Given the description of an element on the screen output the (x, y) to click on. 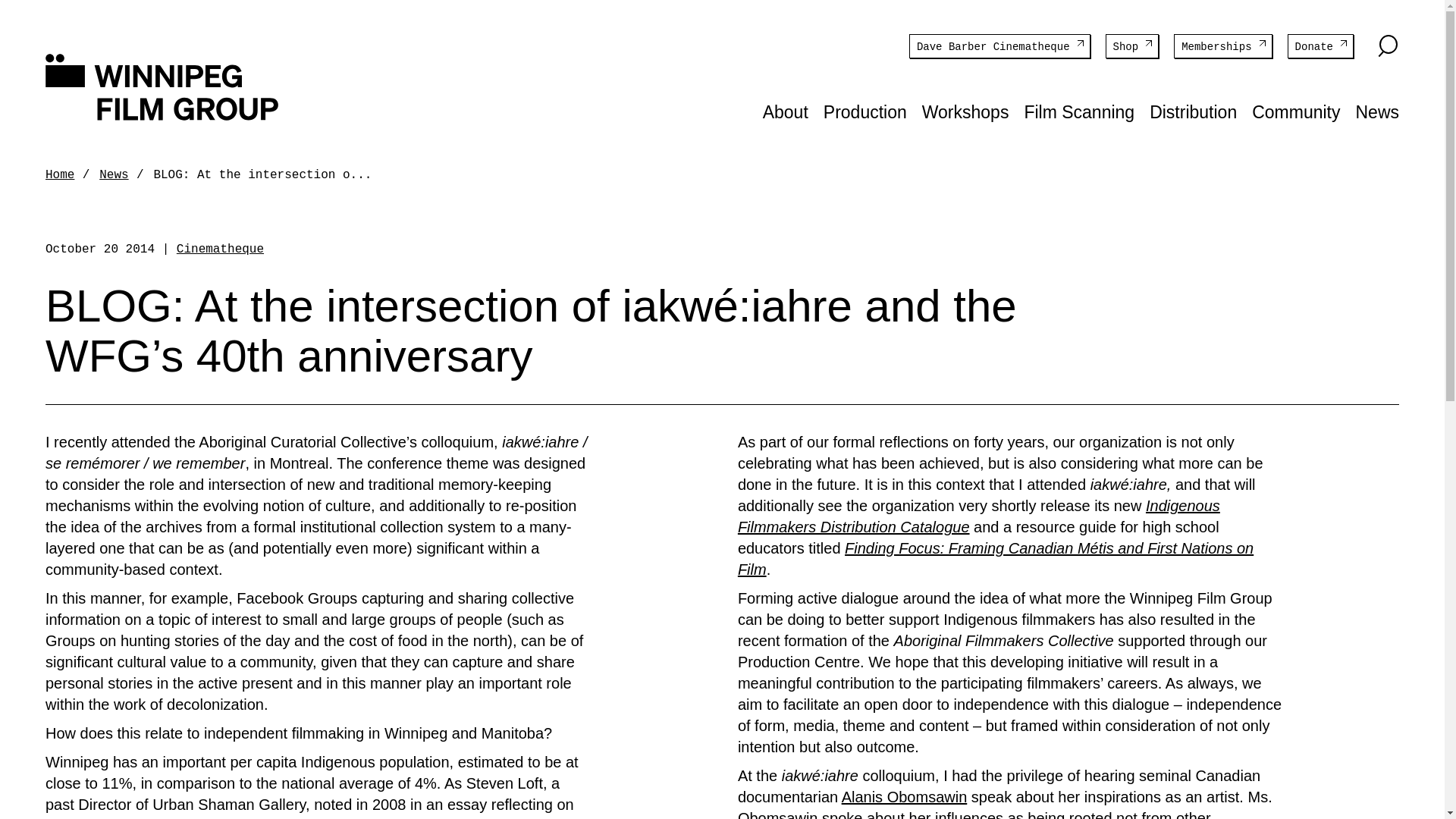
News (1377, 112)
Memberships (1222, 46)
News (113, 174)
Dave Barber Cinematheque (999, 46)
Home (59, 174)
Workshops (965, 112)
Film Scanning (1078, 112)
Donate (1320, 46)
Distribution (1193, 112)
BLOG: At the intersection o... (261, 174)
Community (1295, 112)
Production (865, 112)
Shop (1131, 46)
About (785, 112)
